Given the description of an element on the screen output the (x, y) to click on. 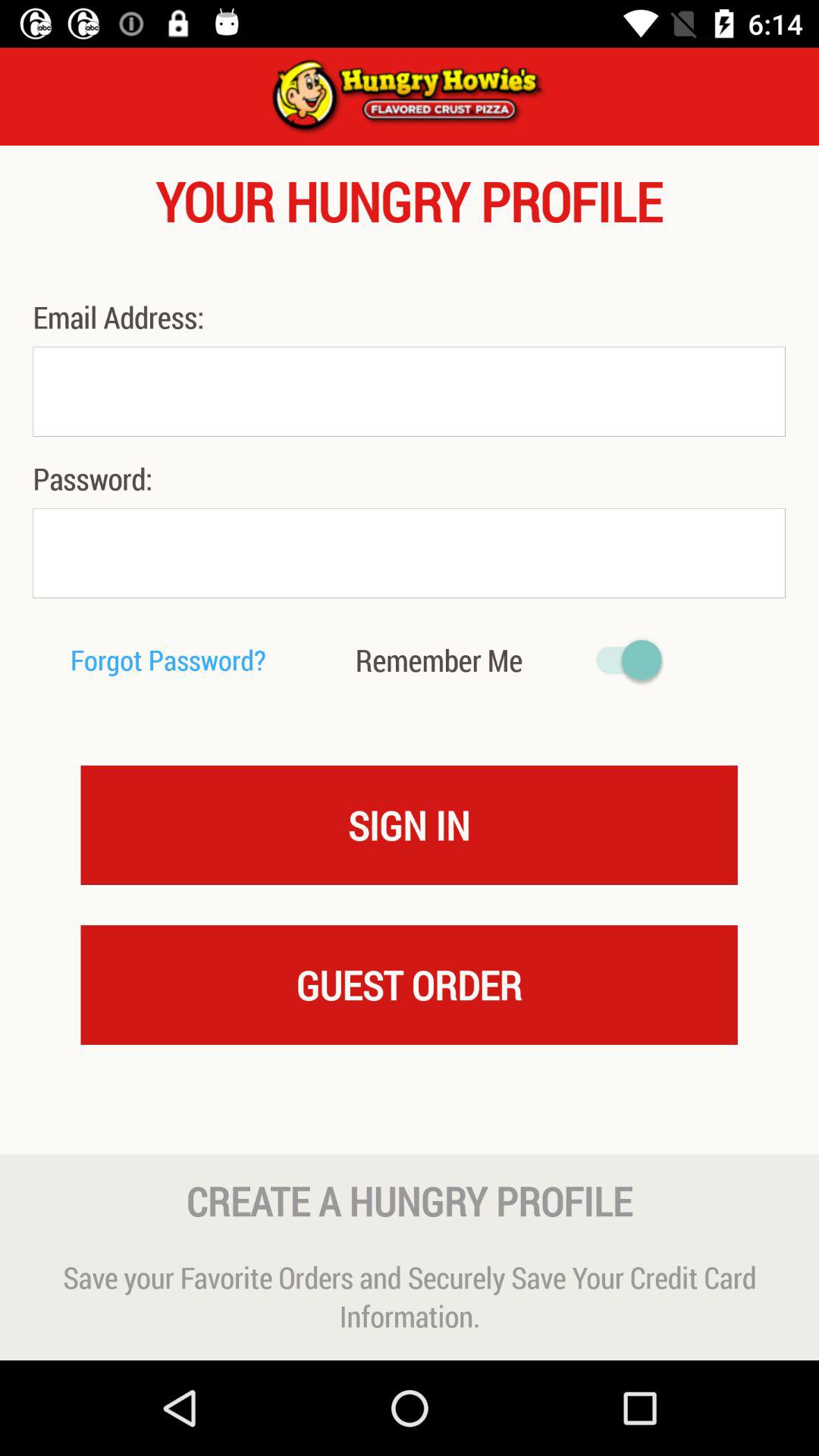
toggle remember login option (621, 659)
